Given the description of an element on the screen output the (x, y) to click on. 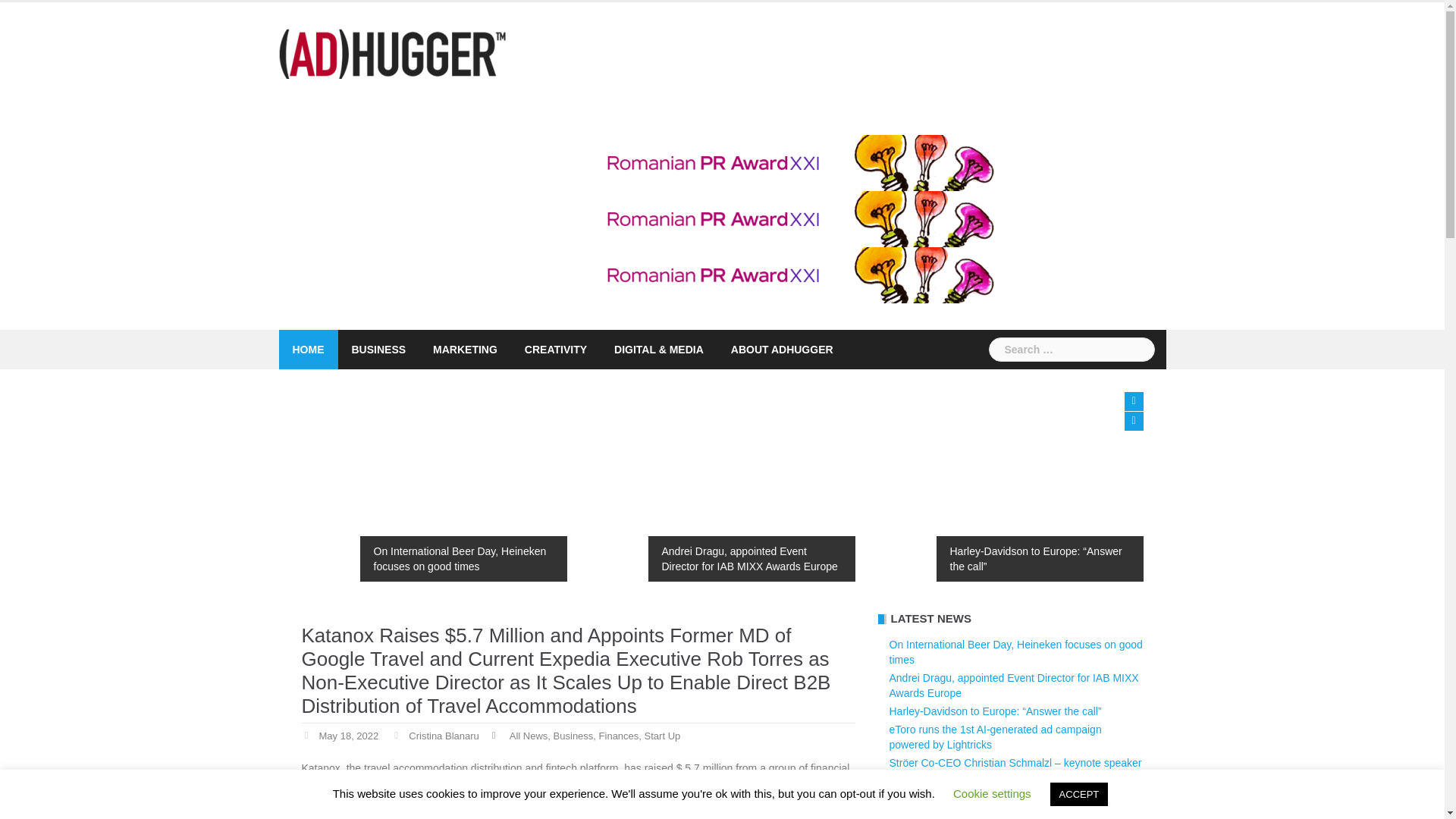
MARKETING (464, 349)
AdHugger (392, 52)
CREATIVITY (555, 349)
BUSINESS (379, 349)
Search (39, 18)
ABOUT ADHUGGER (781, 349)
